Given the description of an element on the screen output the (x, y) to click on. 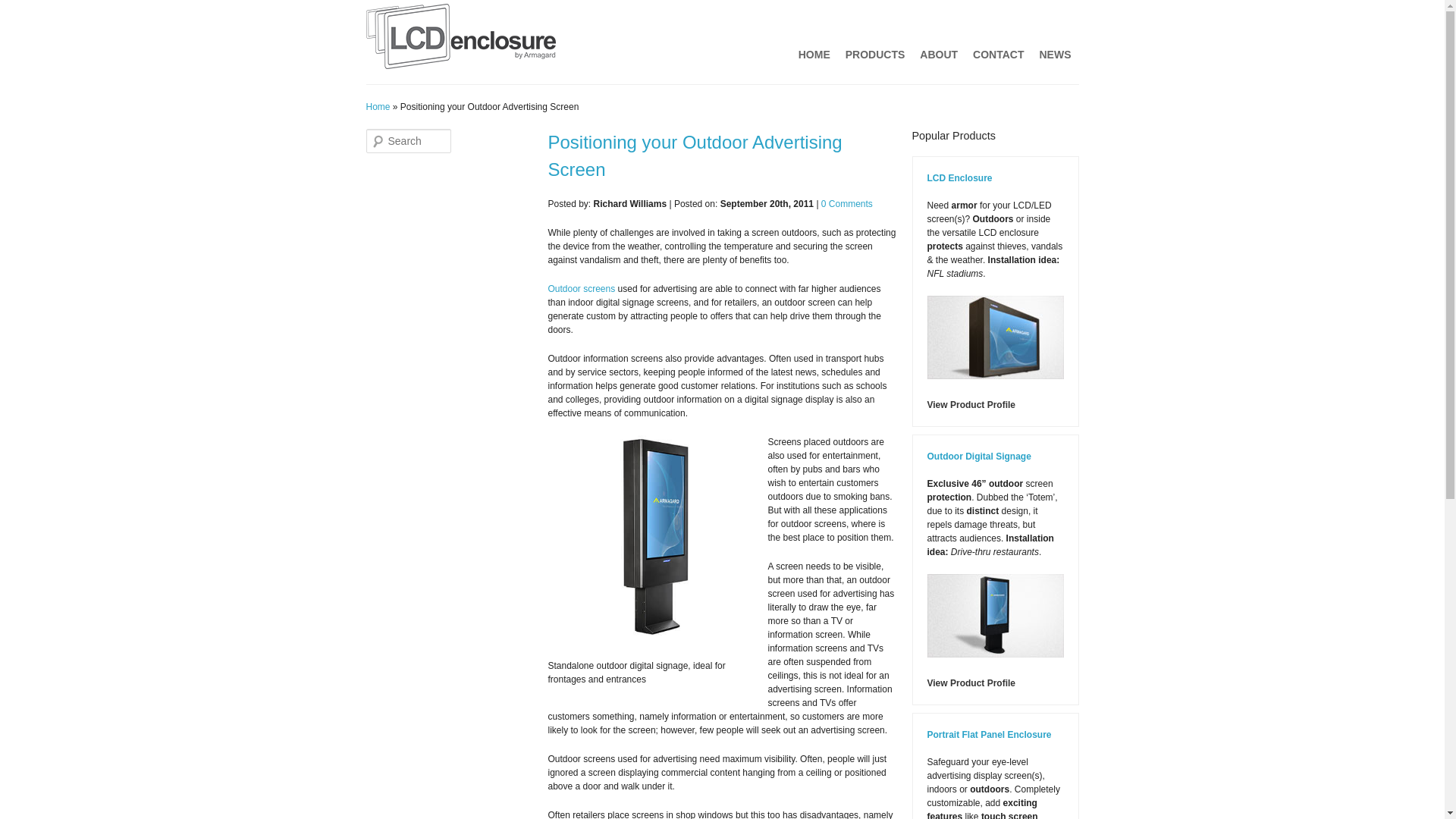
ABOUT (938, 53)
Search (20, 7)
Portrait Flat Panel Enclosure (988, 734)
Home (377, 106)
Positioning your Outdoor Advertising Screen (694, 155)
CONTACT (997, 53)
LCD Enclosure (958, 177)
Back Home (459, 39)
View Product Profile (970, 404)
Outdoor Digital Signage (978, 456)
HOME (814, 53)
NEWS (1054, 53)
View Product Profile (970, 683)
Outdoor screens (580, 288)
